Given the description of an element on the screen output the (x, y) to click on. 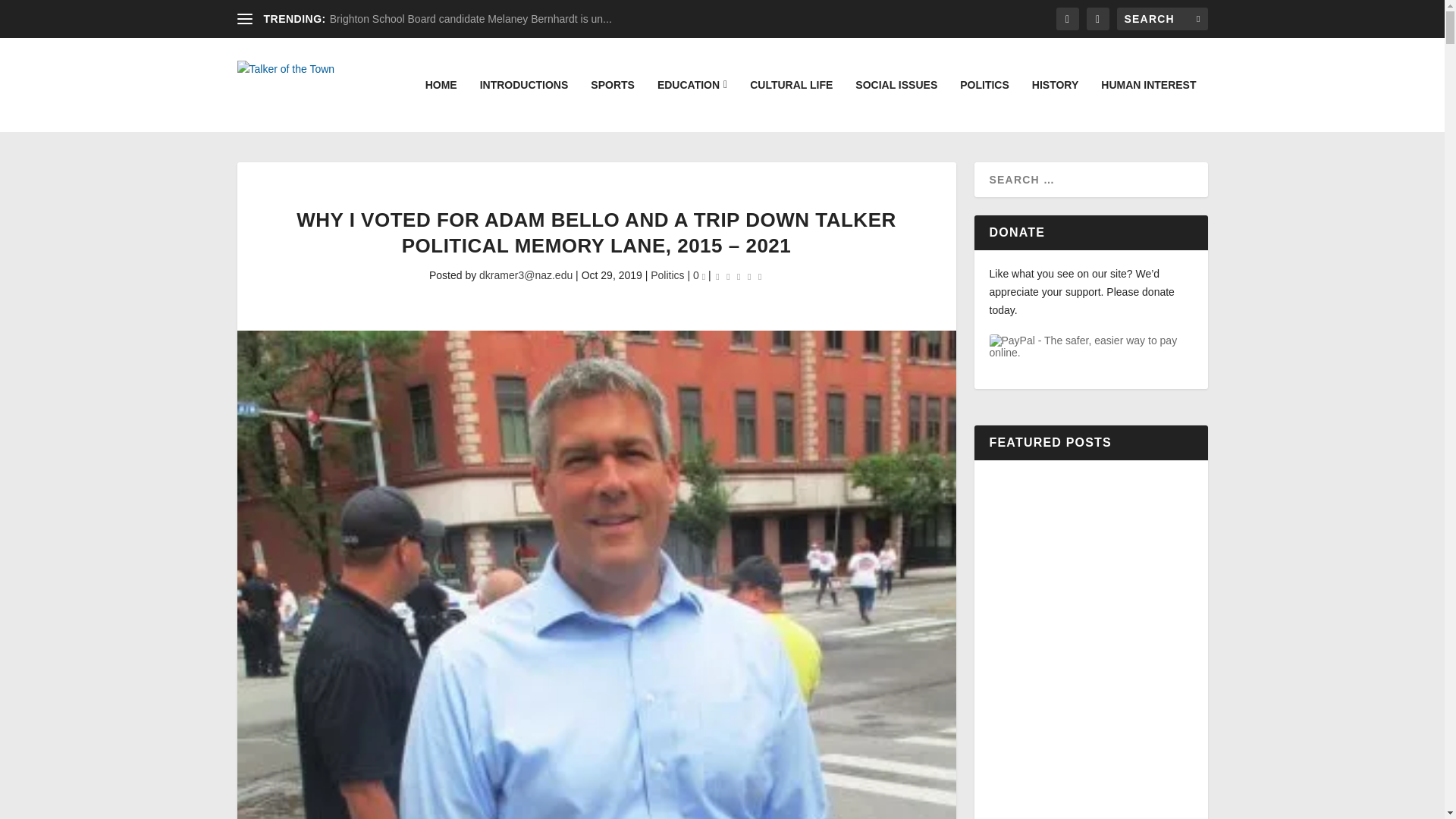
INTRODUCTIONS (524, 104)
CULTURAL LIFE (790, 104)
0 (698, 275)
SOCIAL ISSUES (896, 104)
EDUCATION (692, 104)
Brighton School Board candidate Melaney Bernhardt is un... (470, 19)
Search for: (1161, 18)
Politics (667, 275)
Rating: 0.00 (739, 275)
POLITICS (984, 104)
HUMAN INTEREST (1147, 104)
